Given the description of an element on the screen output the (x, y) to click on. 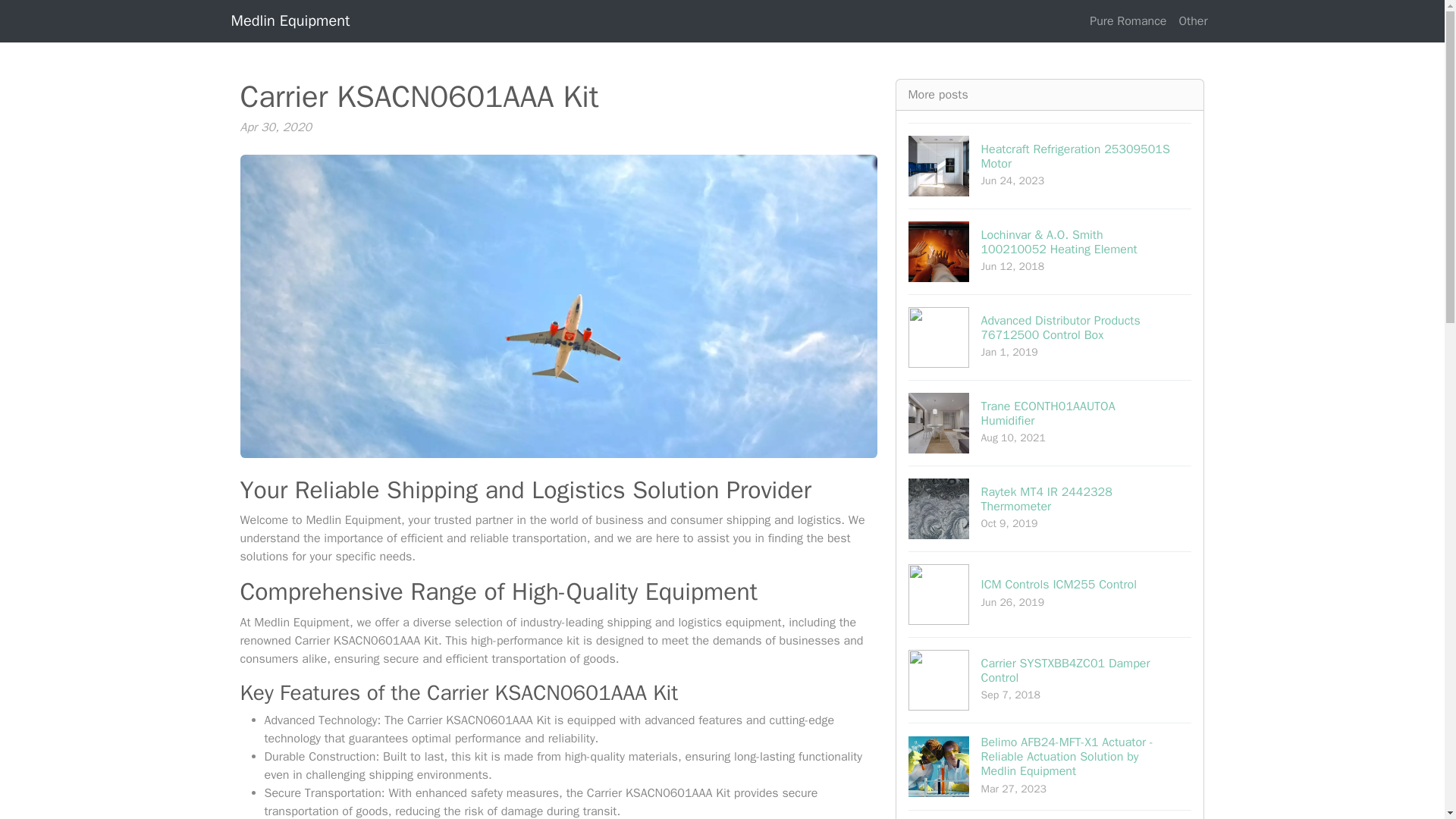
Medlin Equipment (1050, 814)
Pure Romance (1050, 679)
Other (1050, 508)
